Given the description of an element on the screen output the (x, y) to click on. 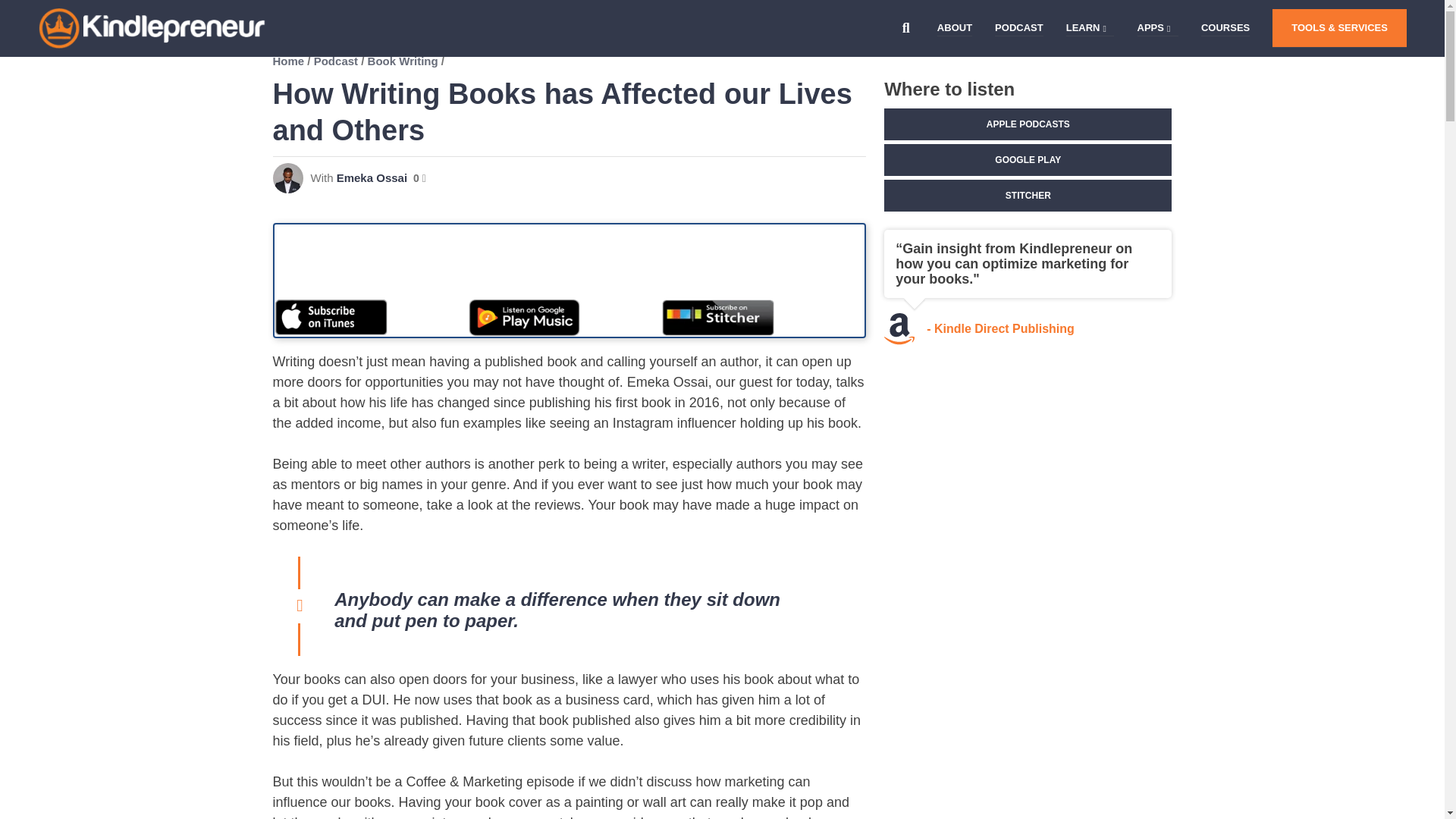
COURSES (1225, 28)
LEARN (1082, 28)
ABOUT (954, 28)
PODCAST (1018, 28)
APPS (1150, 28)
Kindlepreneur (79, 72)
